Given the description of an element on the screen output the (x, y) to click on. 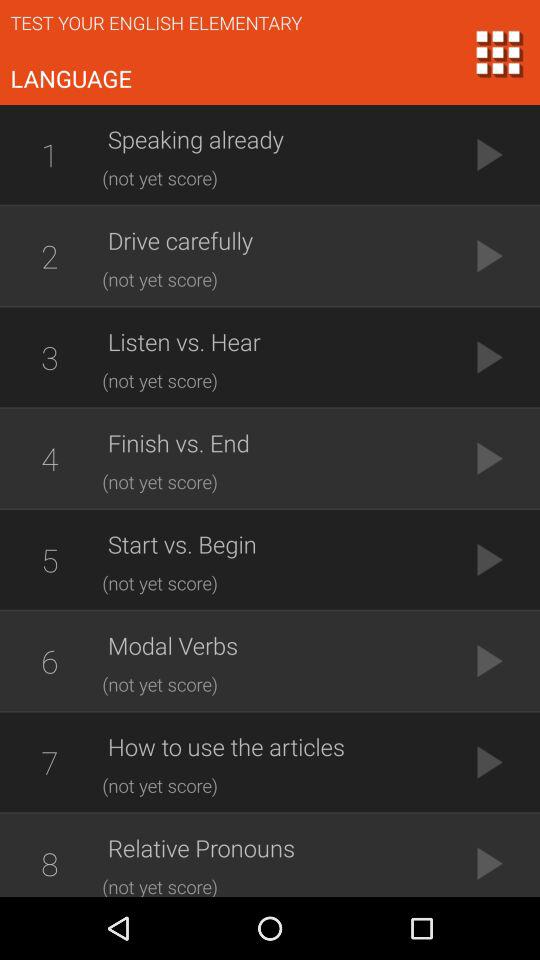
choose the app to the left of  listen vs. hear item (49, 357)
